Given the description of an element on the screen output the (x, y) to click on. 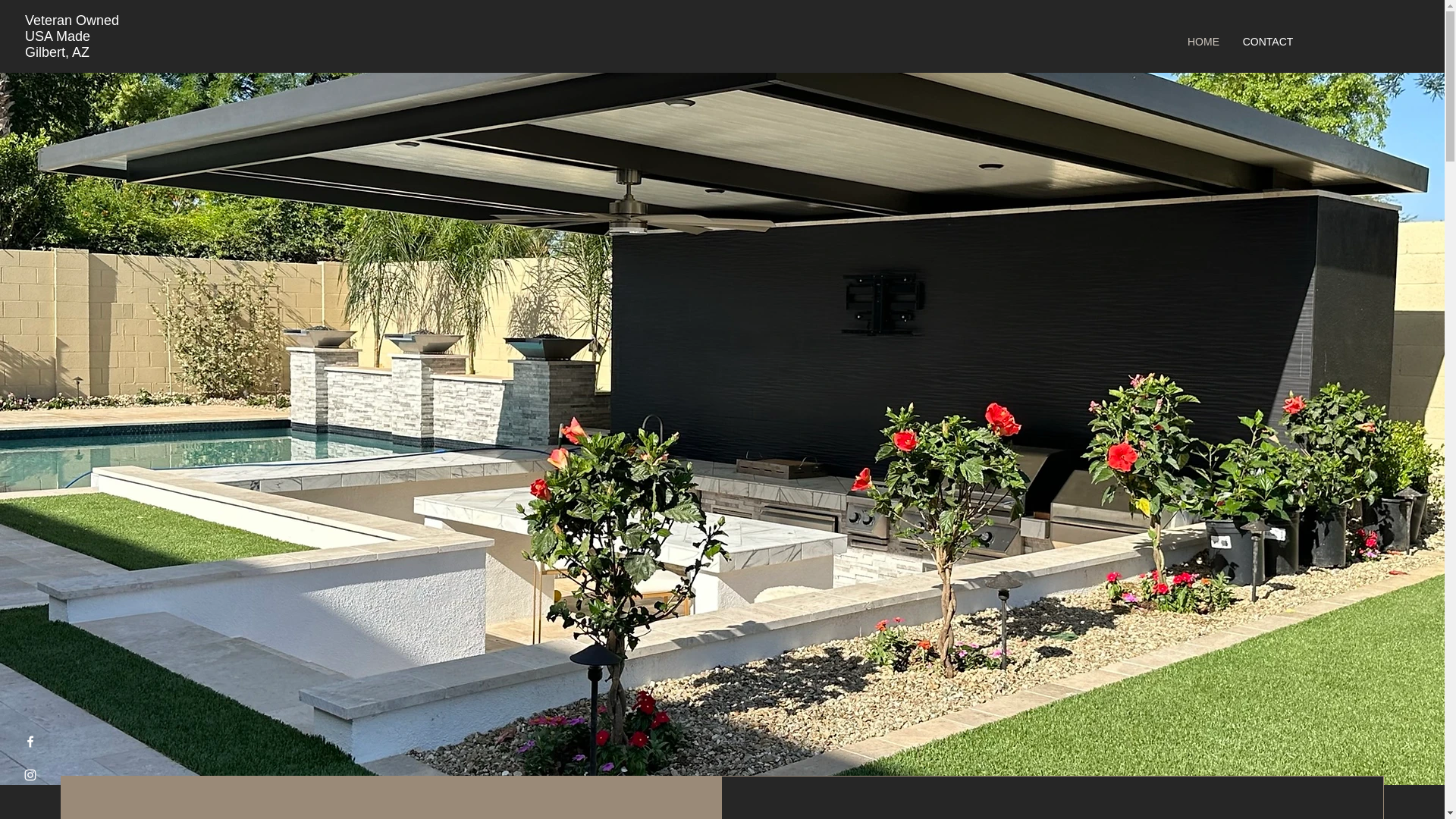
HOME (1203, 41)
CONTACT (1267, 41)
Veteran Owned (71, 20)
